Given the description of an element on the screen output the (x, y) to click on. 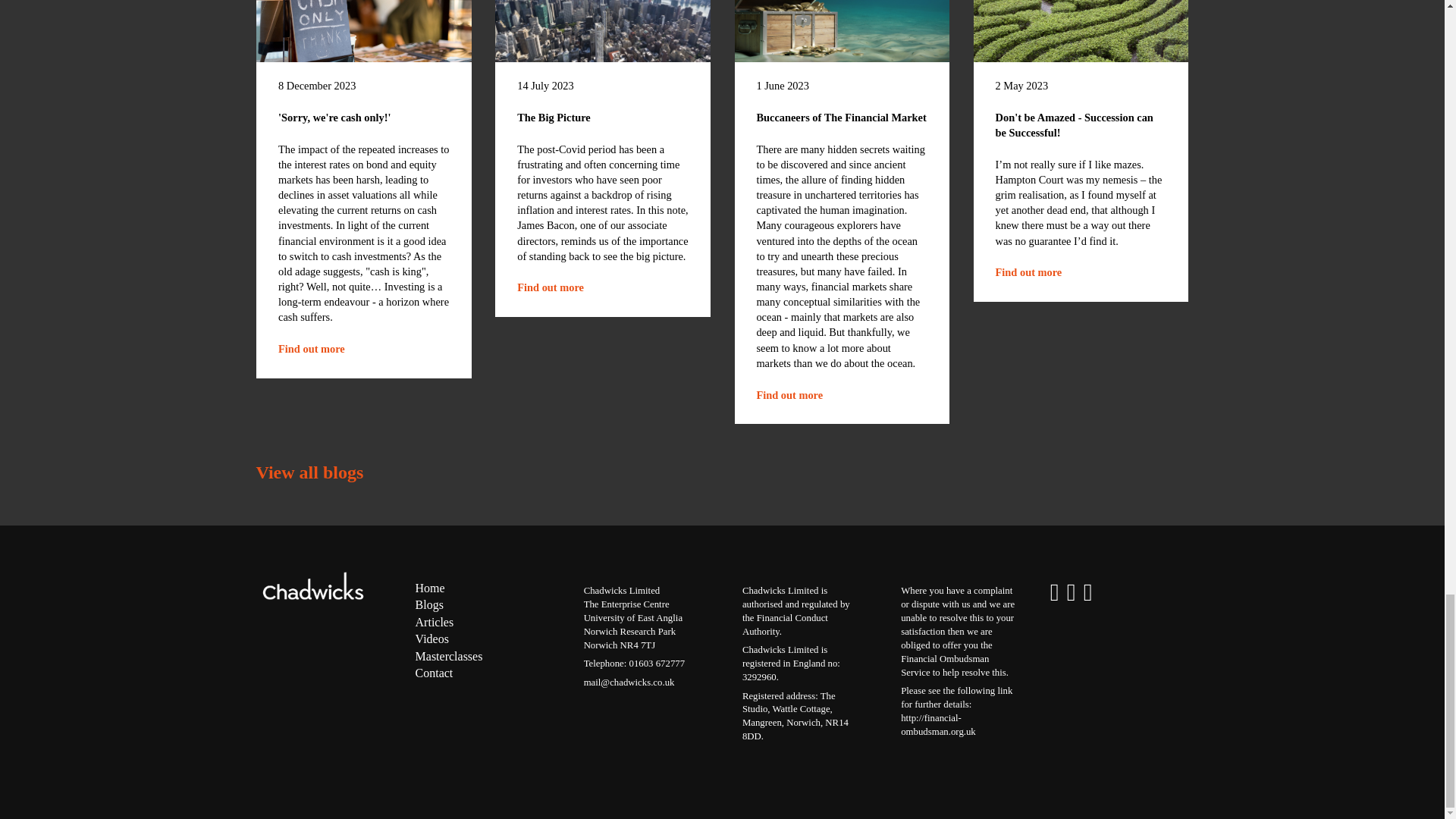
LinkedIn (311, 348)
Twitter (1088, 592)
Videos (1071, 592)
Articles (788, 394)
Blogs (431, 639)
Facebook (549, 287)
View all blogs (434, 622)
Home (429, 605)
Contact (1054, 592)
Masterclasses (310, 472)
